Given the description of an element on the screen output the (x, y) to click on. 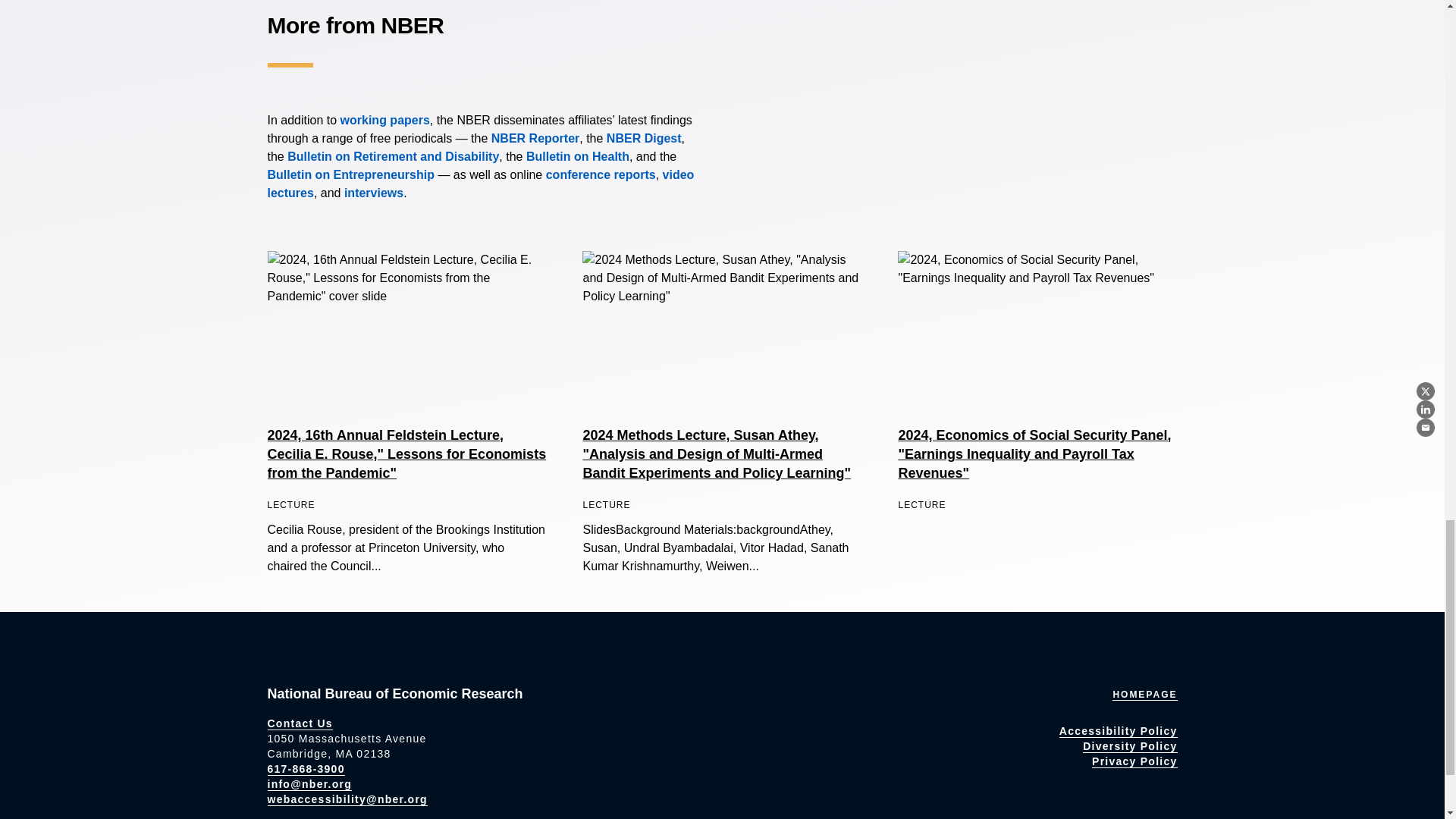
Research Spotlights (373, 192)
Conferences (601, 174)
Lectures (480, 183)
Working Papers (384, 119)
